Given the description of an element on the screen output the (x, y) to click on. 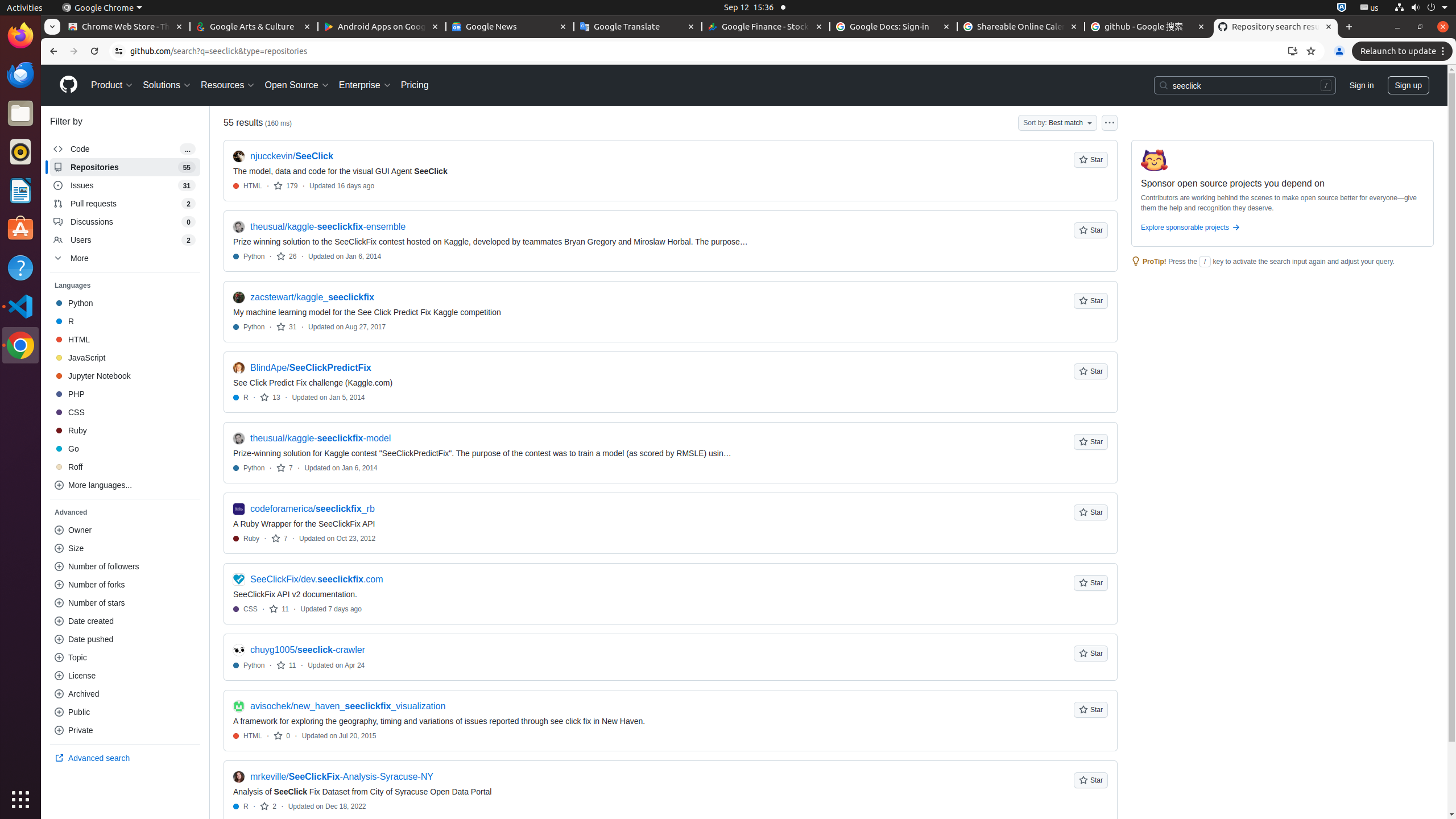
Google Chrome Element type: push-button (20, 344)
Pricing Element type: link (414, 84)
31 stars Element type: link (286, 326)
26 stars Element type: link (286, 255)
Sort by: Best match Element type: push-button (1057, 122)
